Given the description of an element on the screen output the (x, y) to click on. 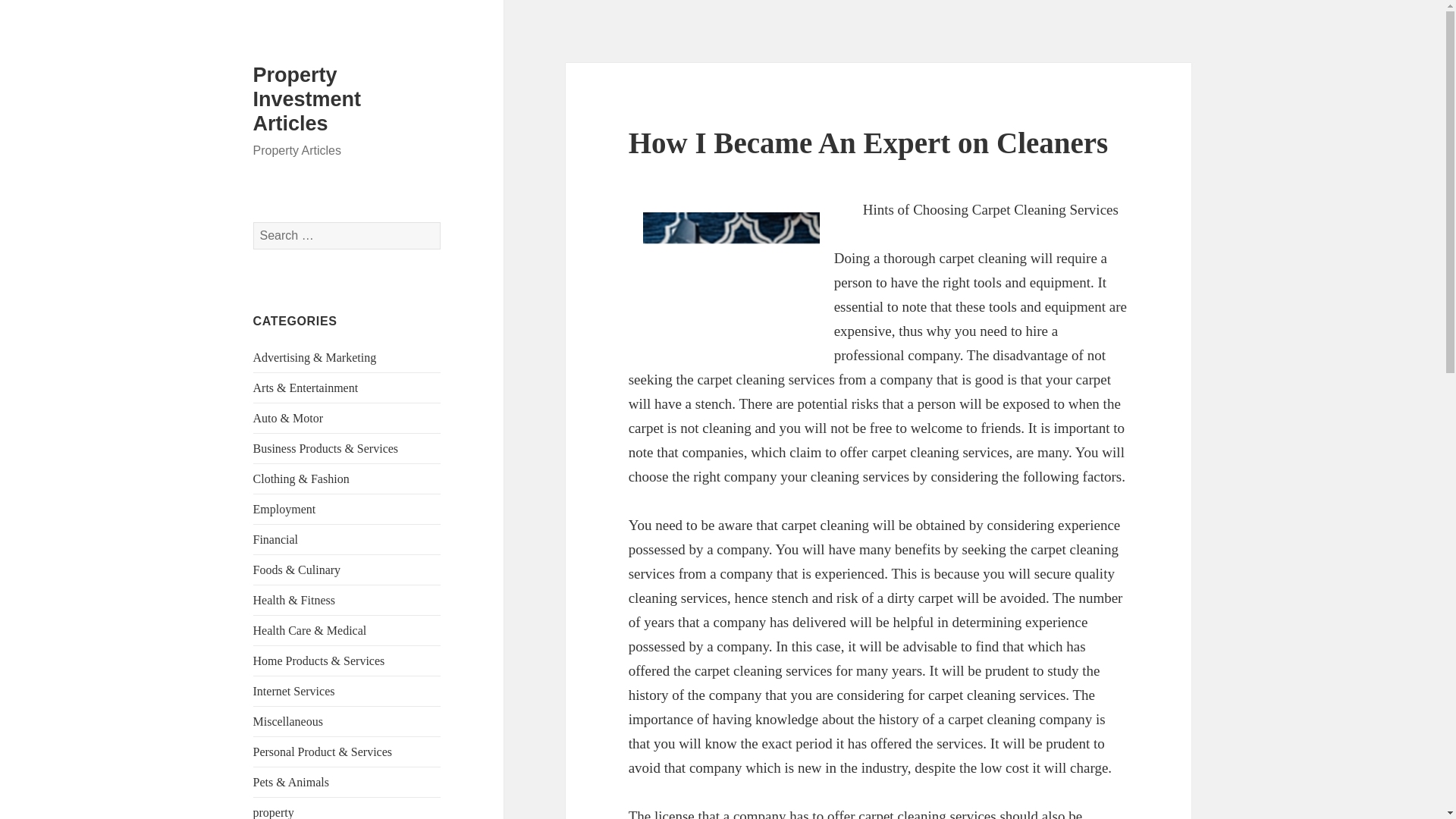
property (273, 812)
Miscellaneous (288, 721)
Internet Services (293, 690)
Financial (275, 539)
Property Investment Articles (307, 99)
Employment (284, 508)
